Given the description of an element on the screen output the (x, y) to click on. 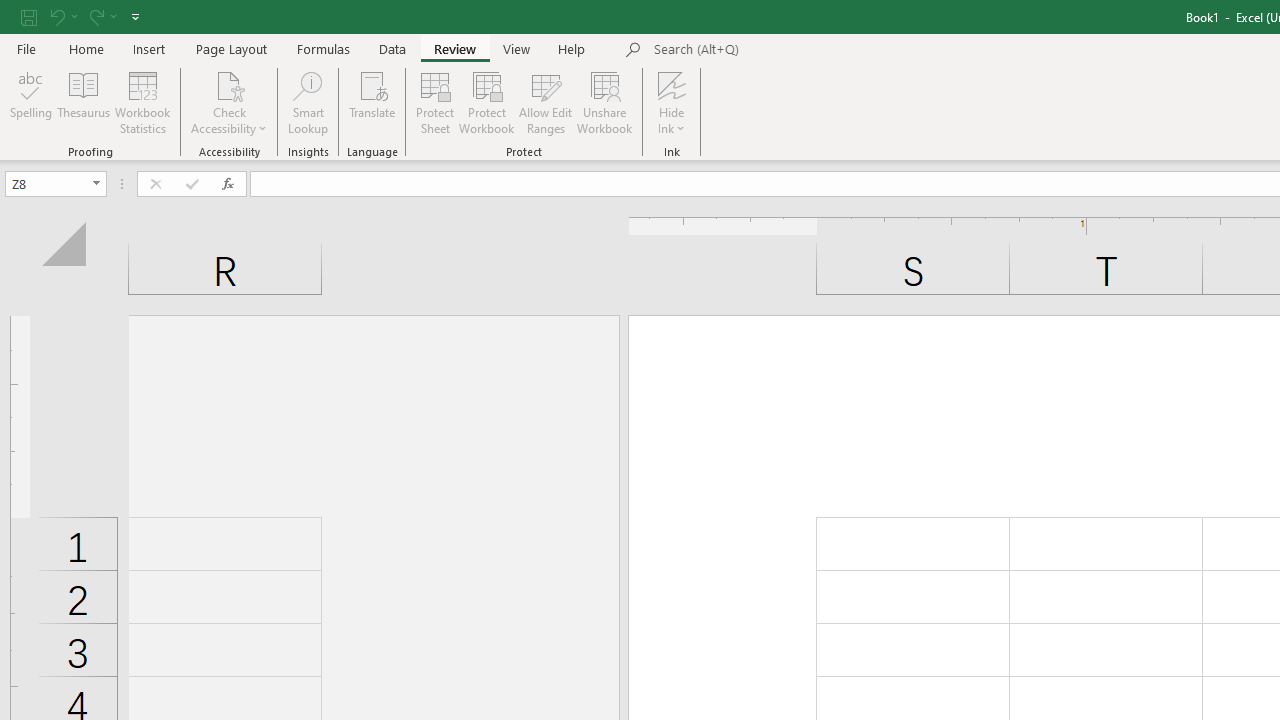
Unshare Workbook (604, 102)
Thesaurus... (83, 102)
Allow Edit Ranges (545, 102)
Smart Lookup (308, 102)
